Given the description of an element on the screen output the (x, y) to click on. 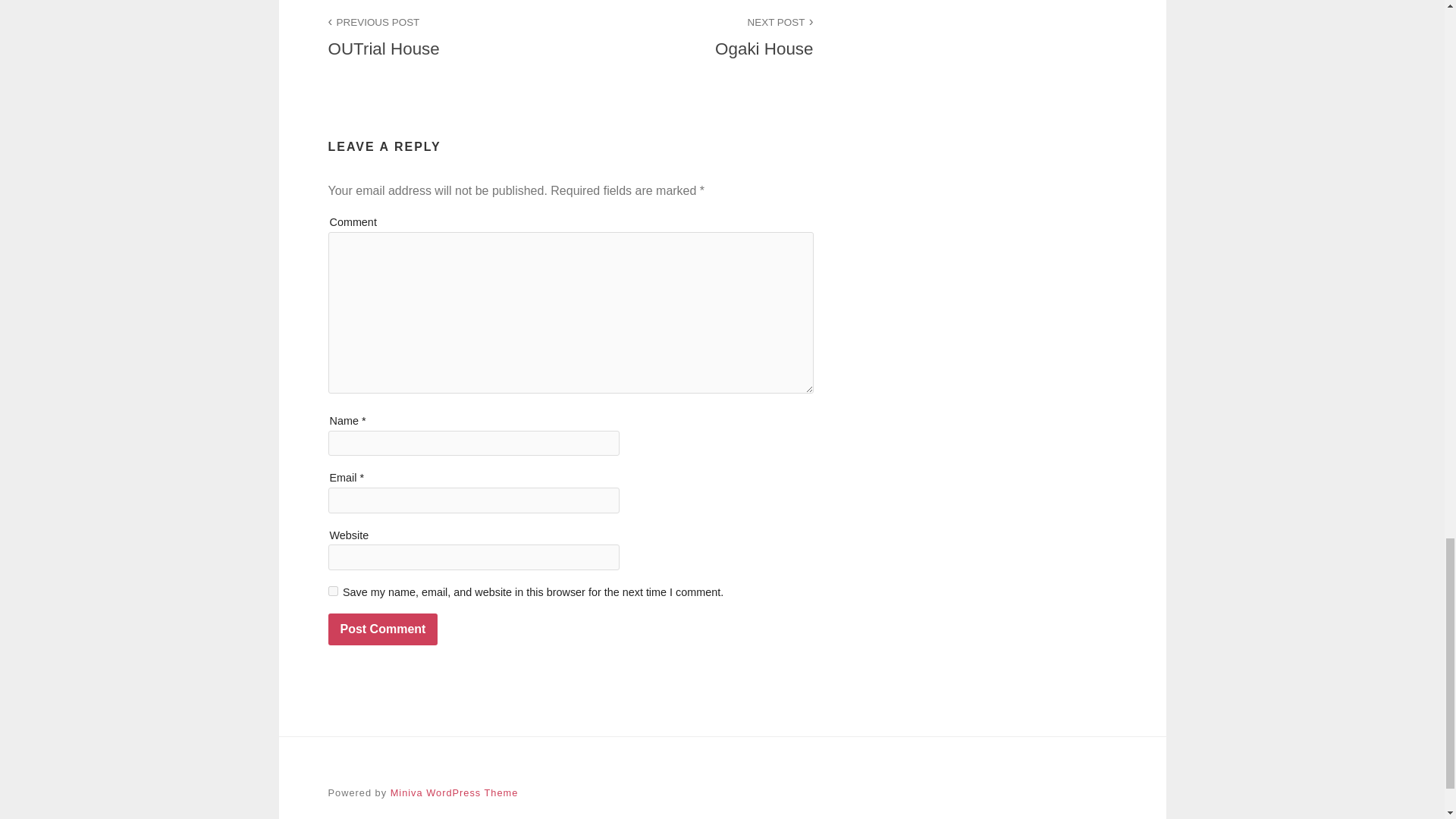
Miniva WordPress Theme (691, 38)
yes (454, 792)
Post Comment (332, 591)
Post Comment (448, 38)
